Given the description of an element on the screen output the (x, y) to click on. 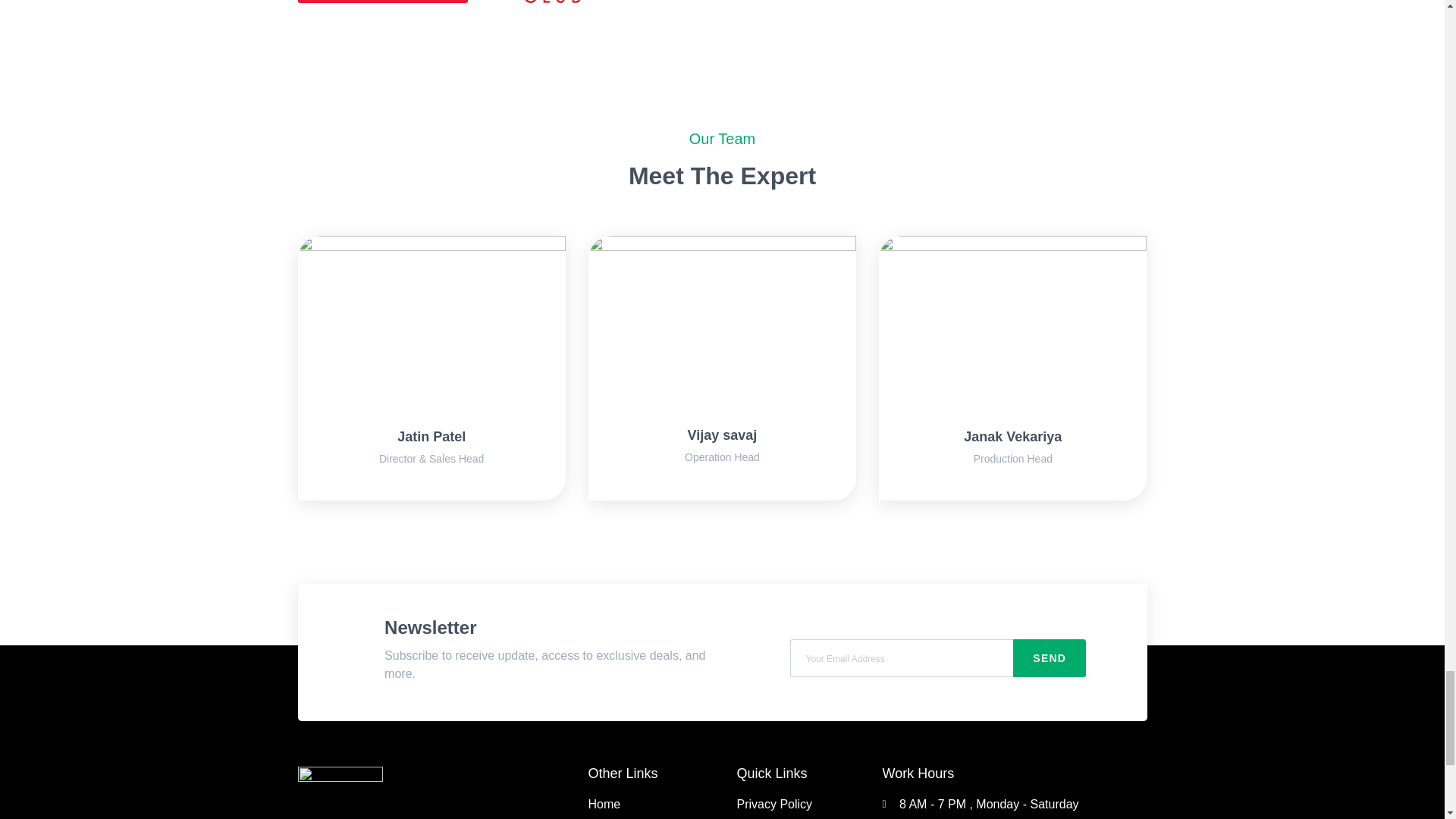
SEND (1049, 658)
Home (654, 804)
Privacy Policy (790, 804)
